Given the description of an element on the screen output the (x, y) to click on. 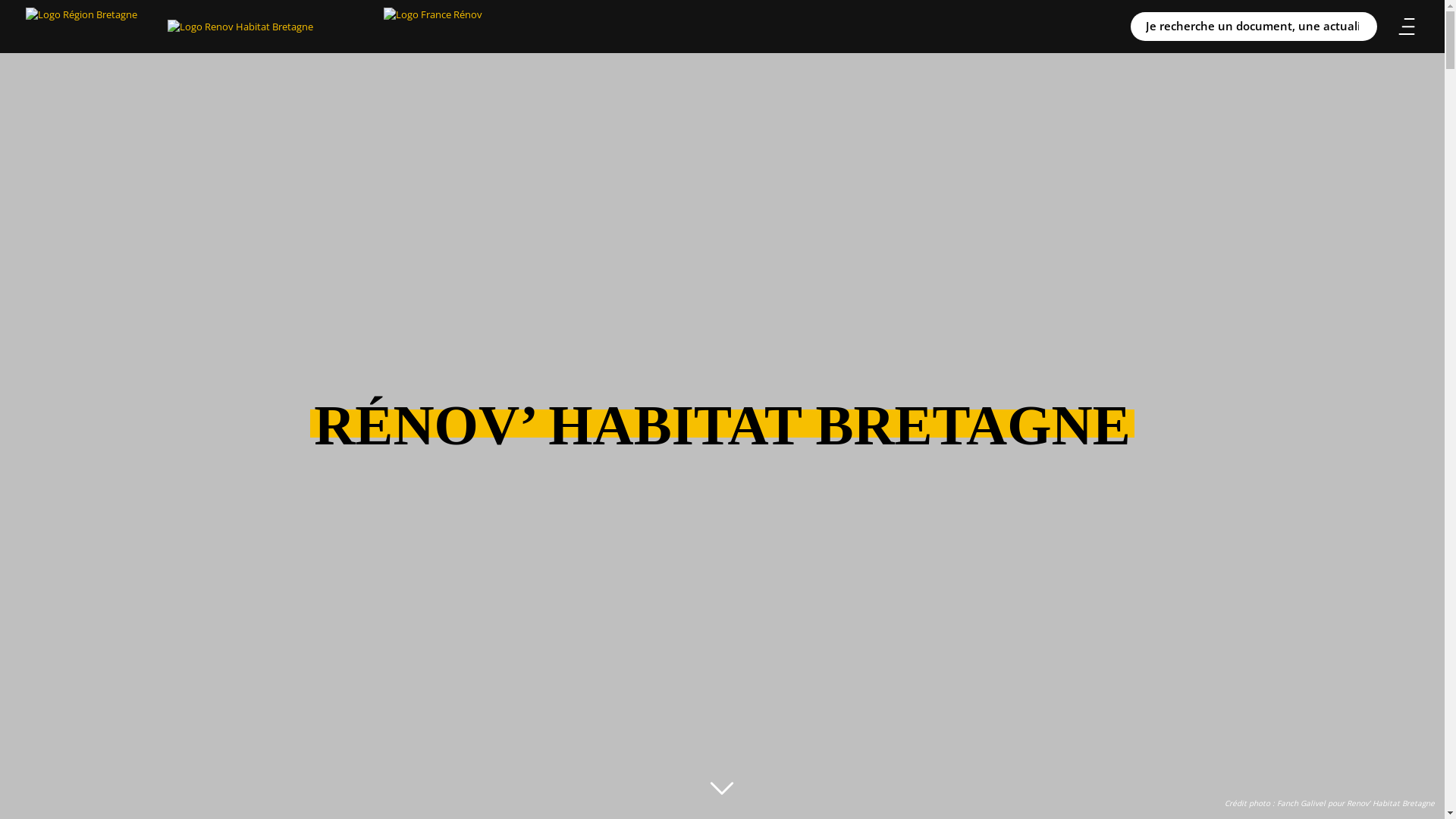
Menu Element type: text (1406, 26)
